Given the description of an element on the screen output the (x, y) to click on. 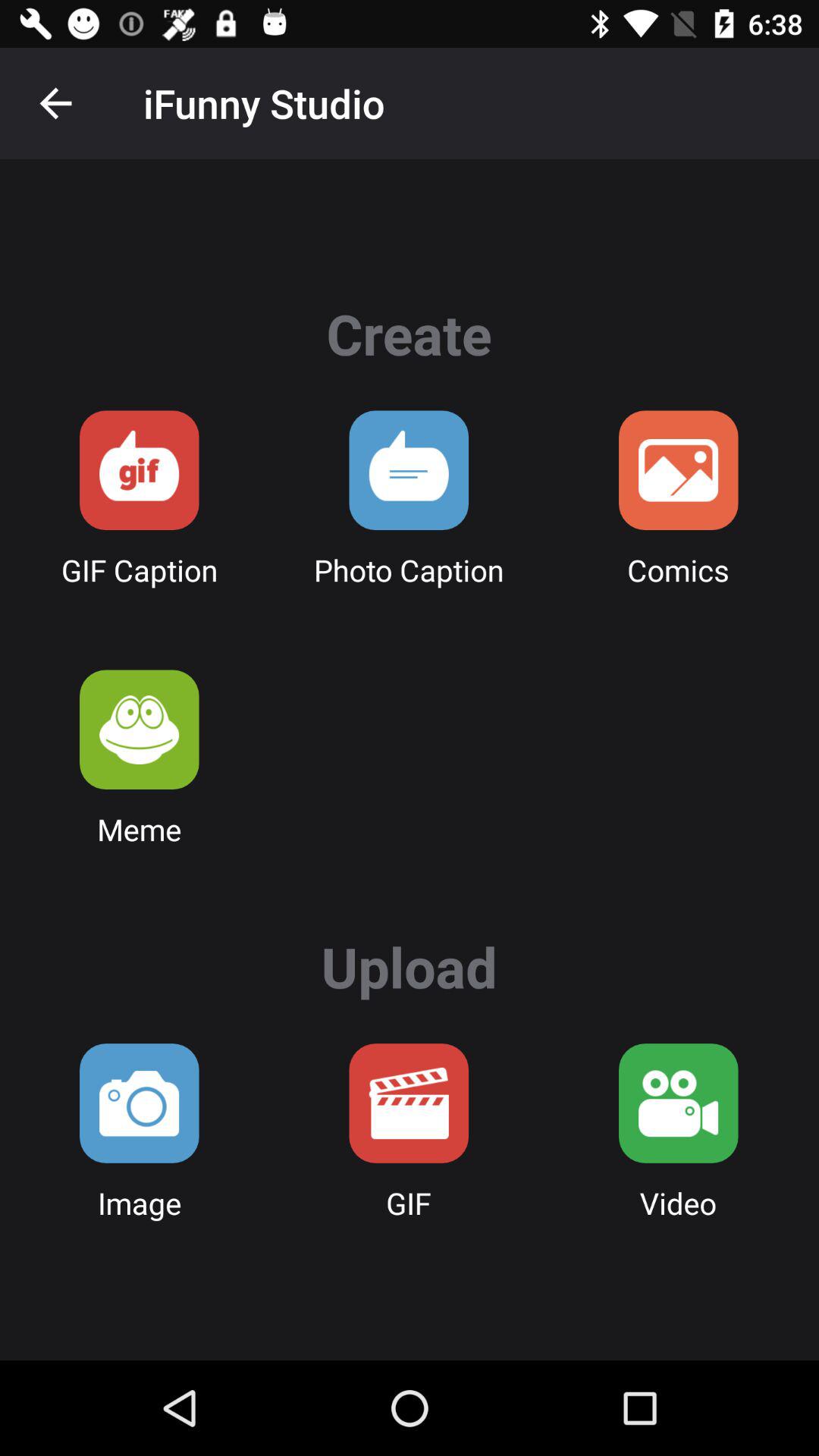
create a gift (139, 470)
